Given the description of an element on the screen output the (x, y) to click on. 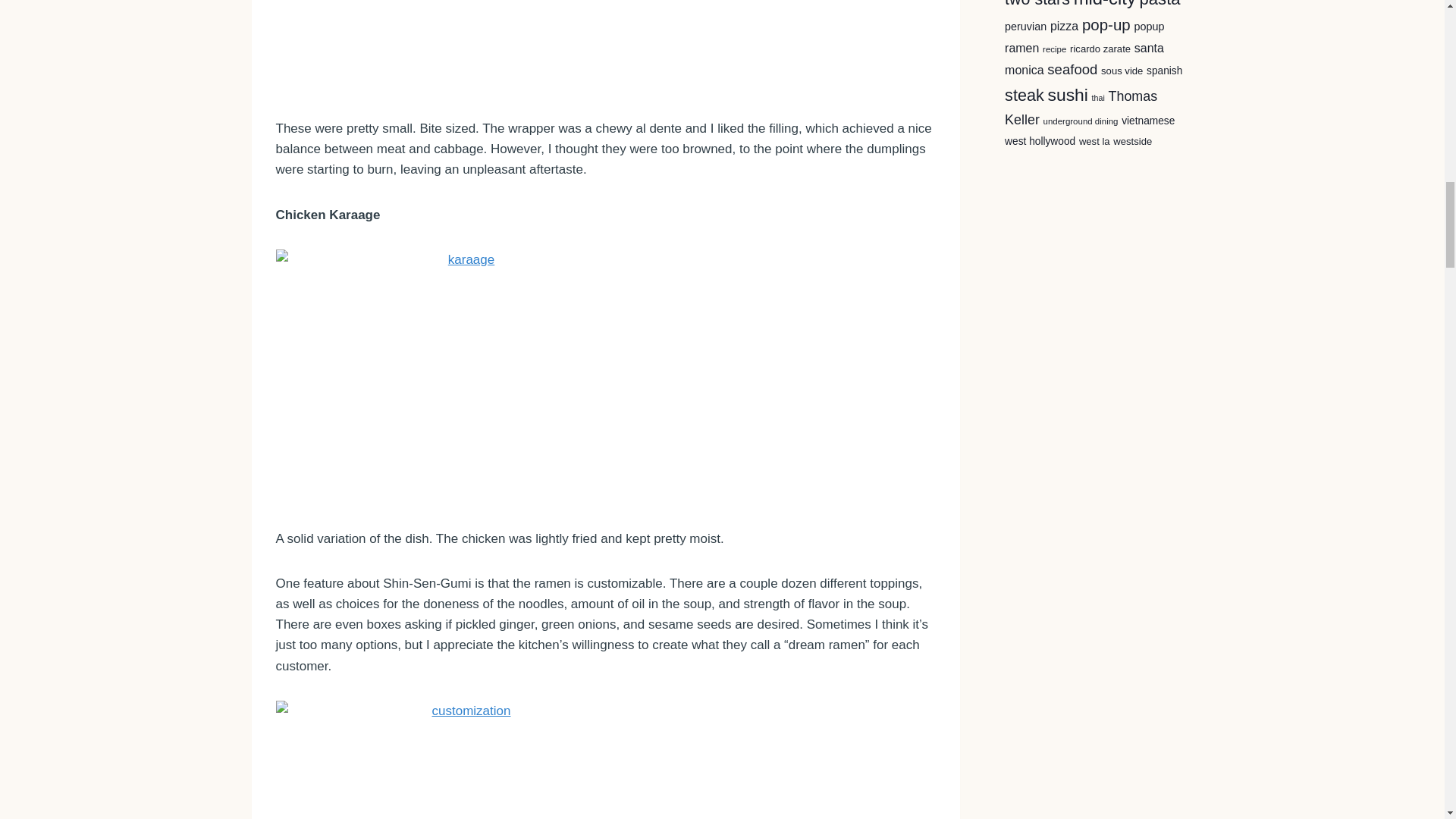
gyoza by Darin Dines, on Flickr (606, 47)
customization by Darin Dines, on Flickr (606, 760)
